Given the description of an element on the screen output the (x, y) to click on. 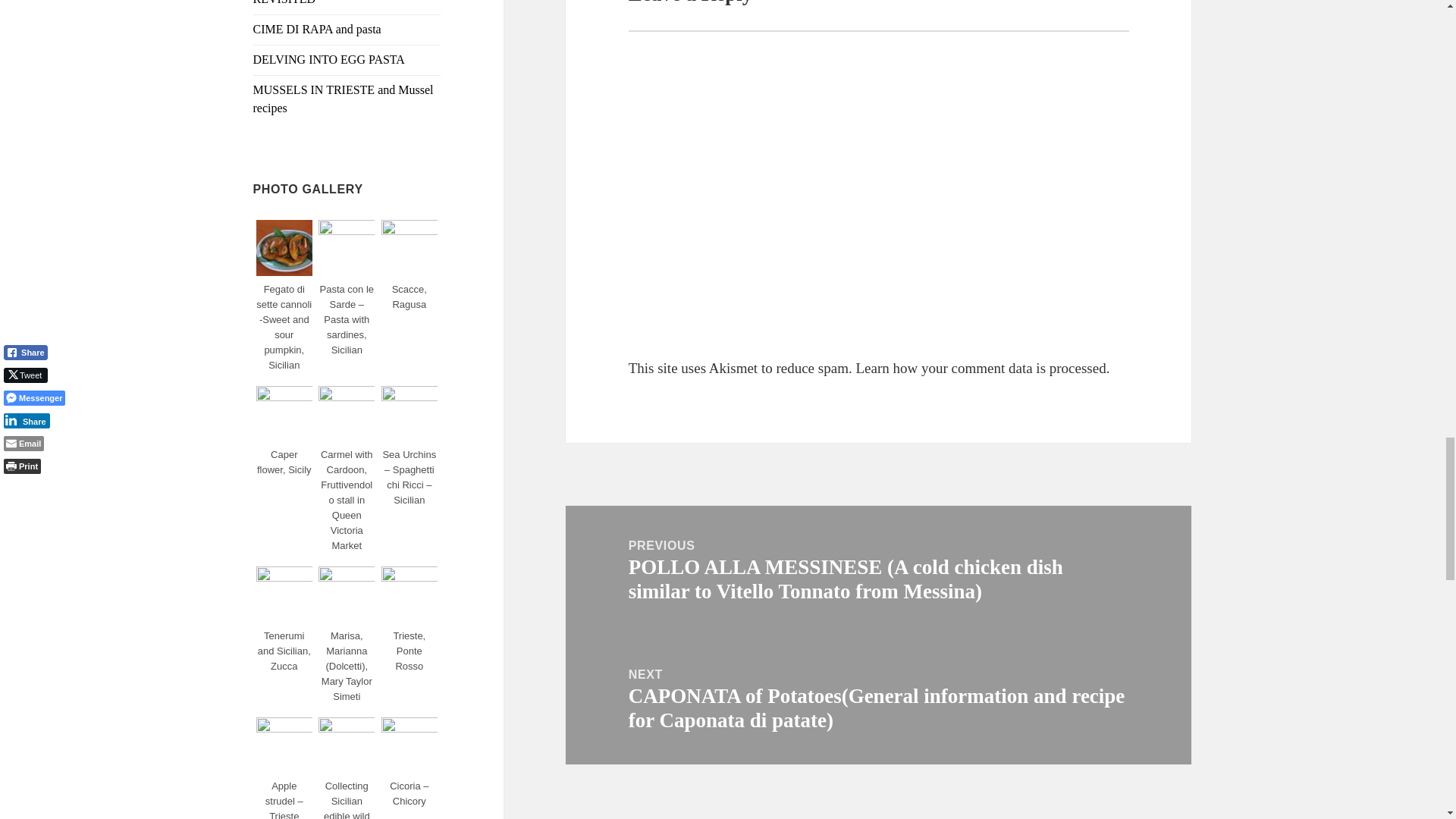
DELVING INTO EGG PASTA (328, 59)
MUSSELS IN TRIESTE and Mussel recipes (343, 98)
CIME DI RAPA and pasta (317, 29)
